Given the description of an element on the screen output the (x, y) to click on. 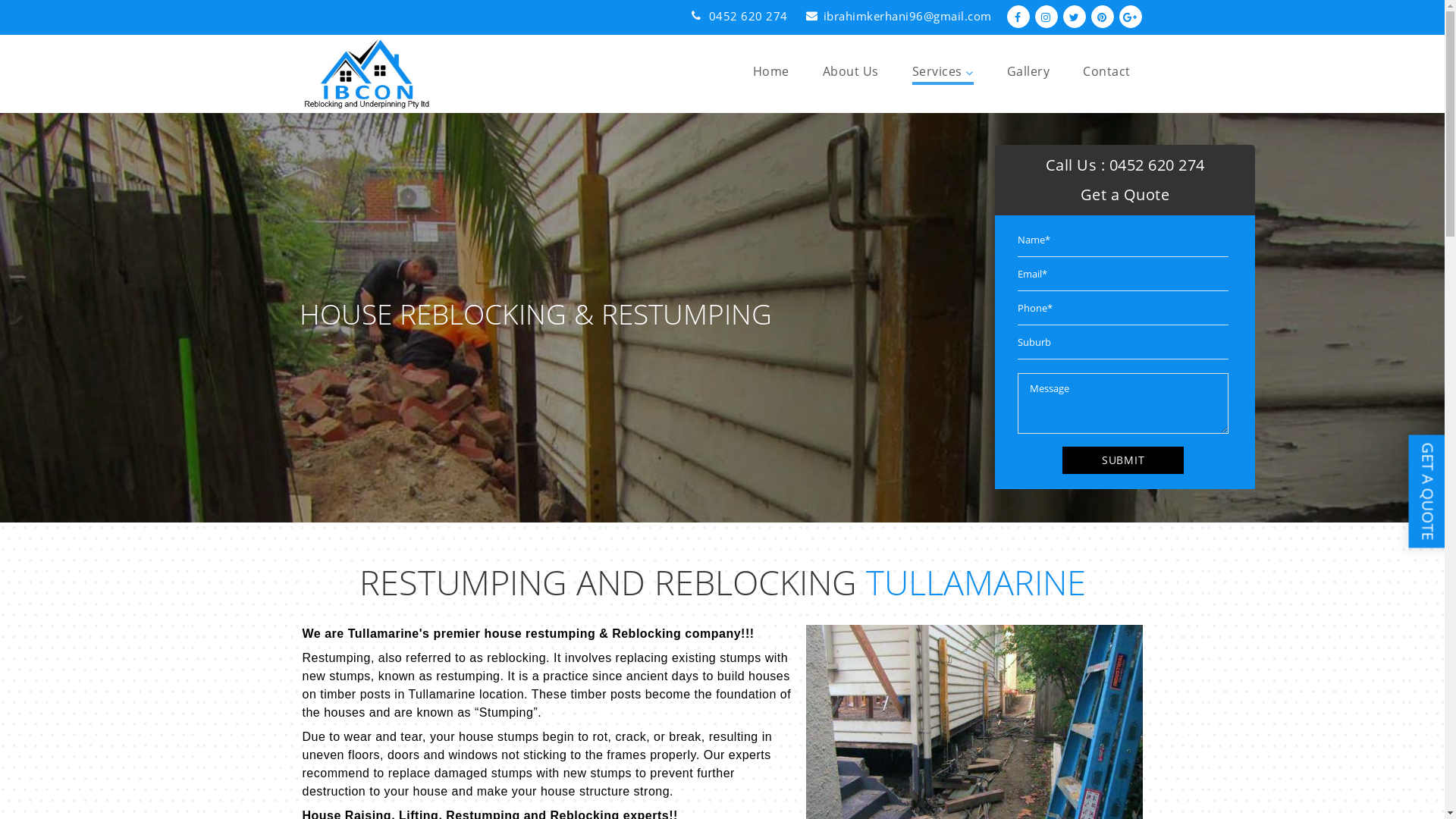
Contact Element type: text (1106, 70)
About Us Element type: text (850, 70)
Gallery Element type: text (1028, 70)
Home Element type: text (770, 70)
Submit Element type: text (1122, 459)
0452 620 274 Element type: text (747, 15)
Services Element type: text (941, 70)
0452 620 274 Element type: text (1156, 164)
ibrahimkerhani96@gmail.com Element type: text (907, 15)
